Given the description of an element on the screen output the (x, y) to click on. 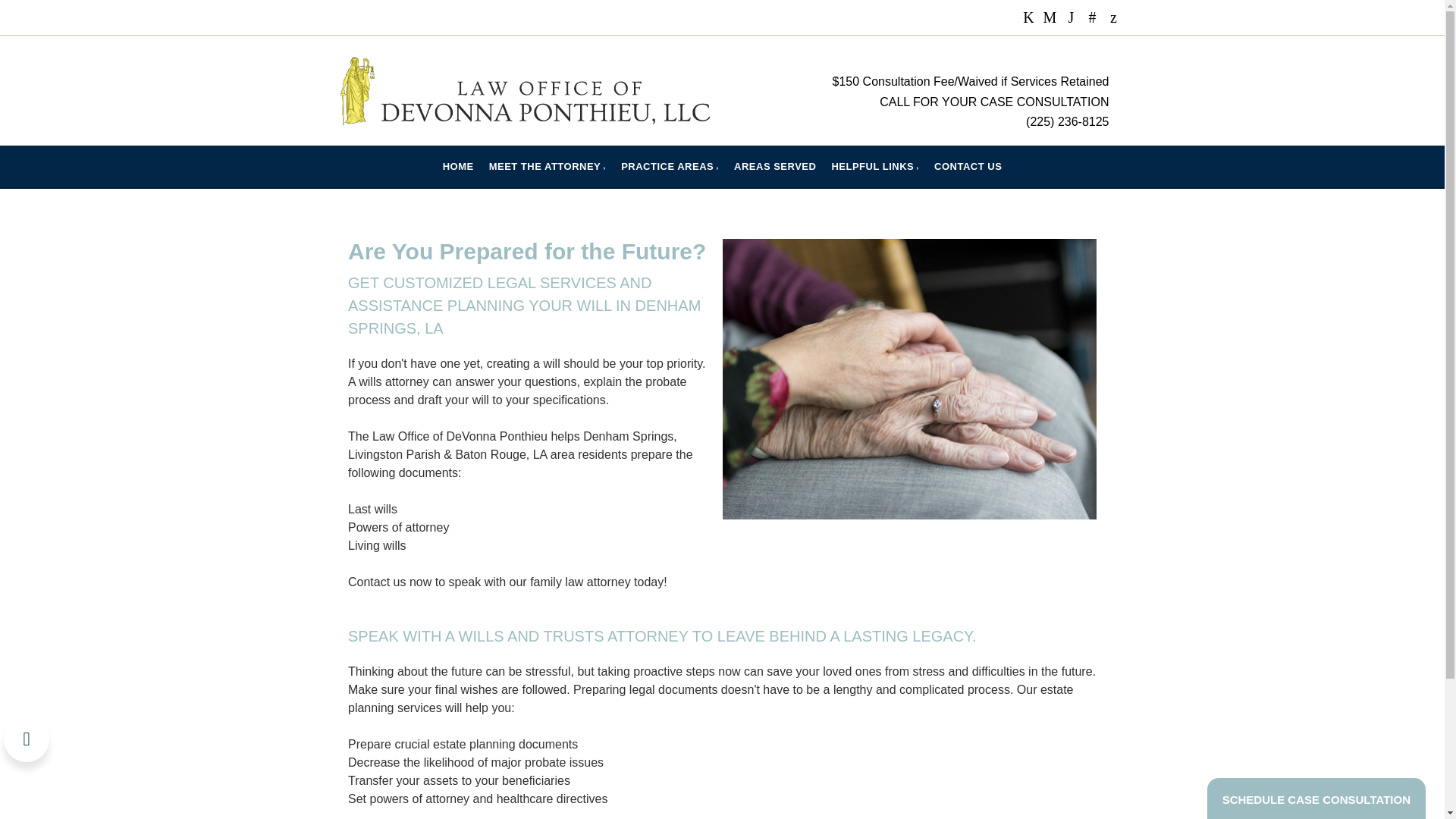
Google Busines (1049, 17)
LinkedIn (1070, 17)
CONTACT US (967, 166)
HOME (458, 166)
Facebook (1028, 17)
Lawyers of Distinction (1091, 17)
AREAS SERVED (775, 166)
Avvo (1113, 17)
